Given the description of an element on the screen output the (x, y) to click on. 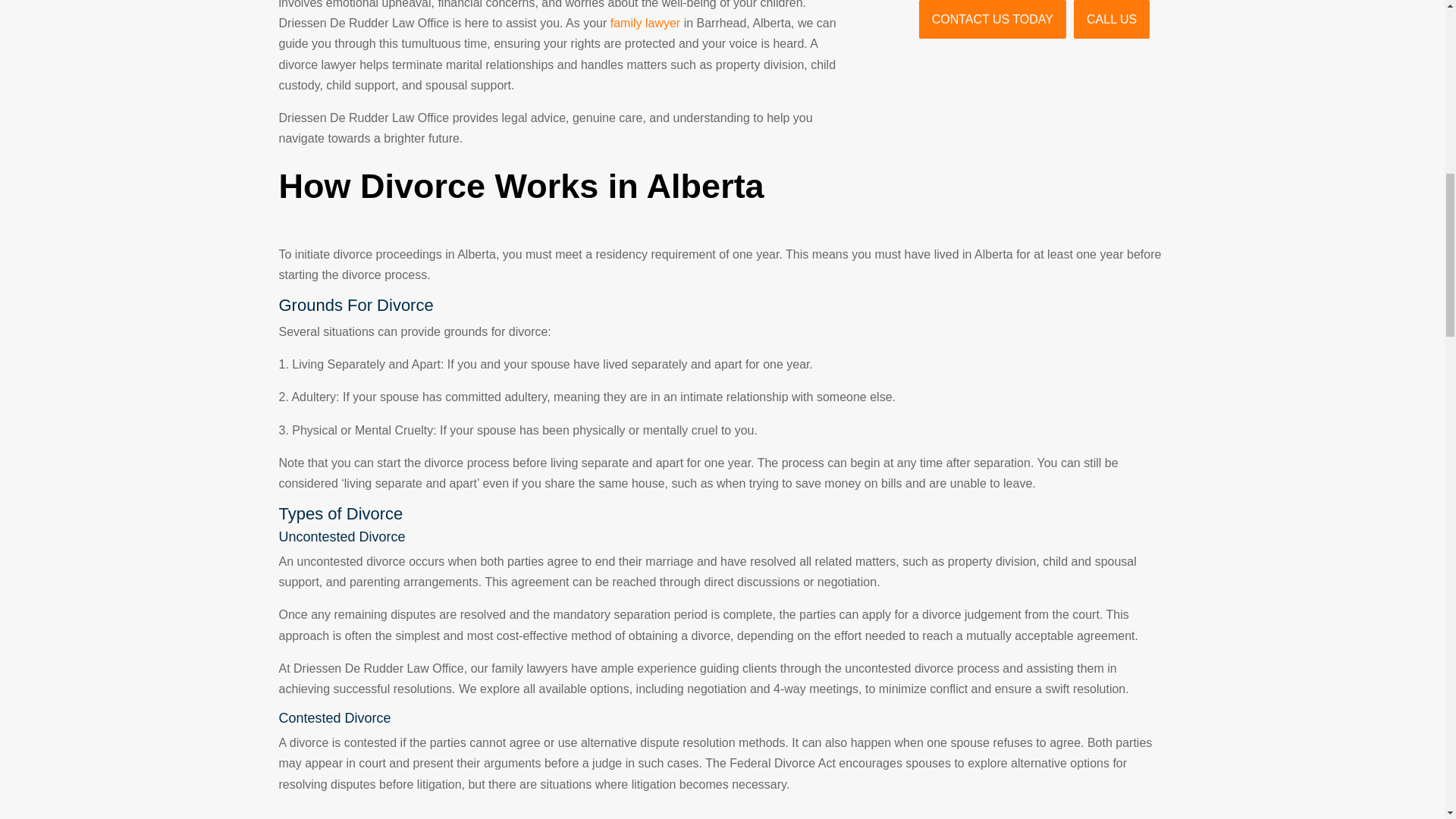
family lawyer (644, 22)
CALL US (1112, 19)
CONTACT US TODAY (991, 19)
